Given the description of an element on the screen output the (x, y) to click on. 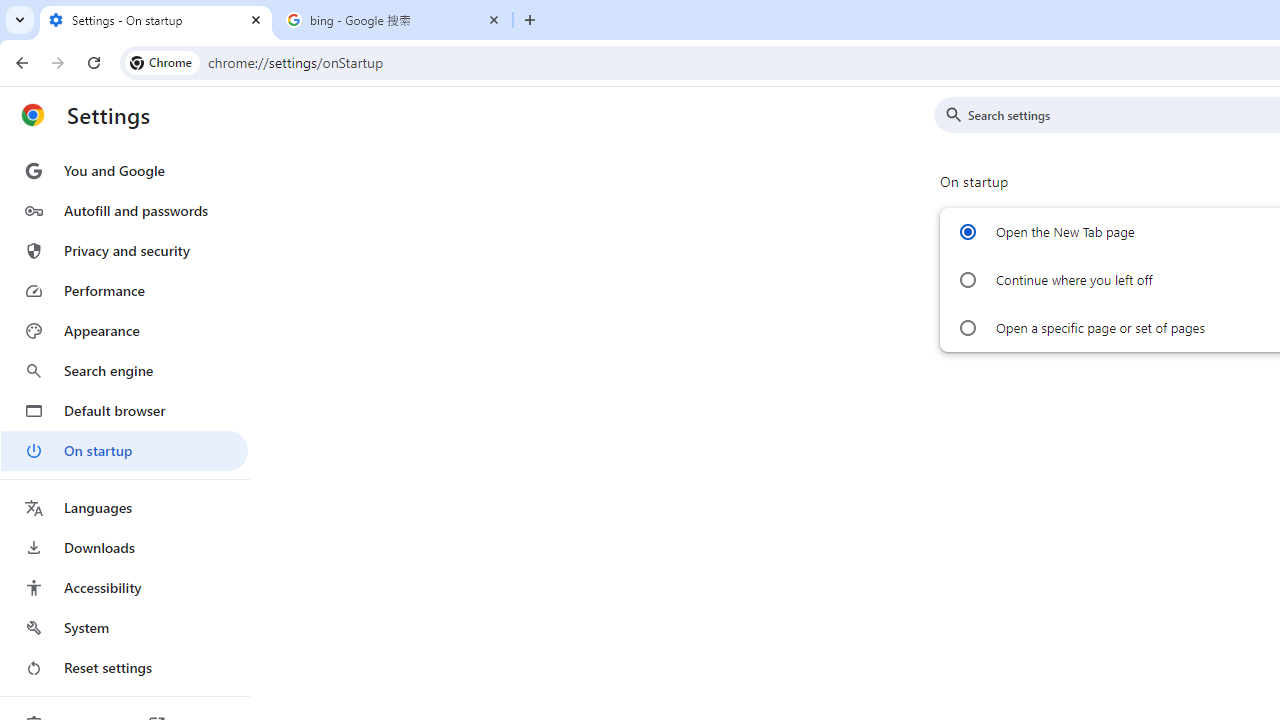
Reset settings (124, 668)
Autofill and passwords (124, 210)
On startup (124, 450)
Search engine (124, 370)
Appearance (124, 331)
Downloads (124, 547)
Privacy and security (124, 250)
Default browser (124, 410)
Settings - On startup (156, 20)
Open the New Tab page (966, 232)
